Given the description of an element on the screen output the (x, y) to click on. 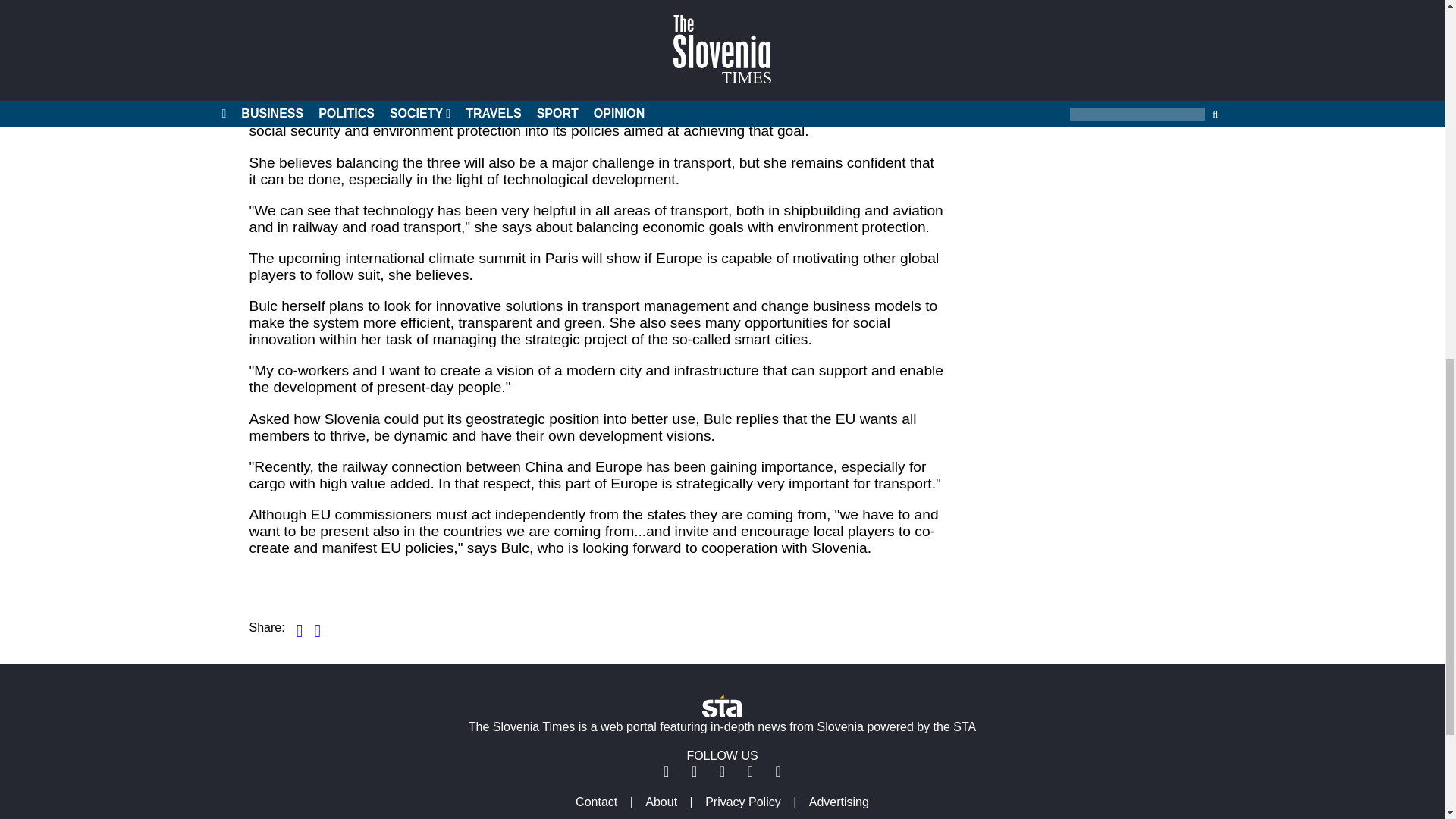
About (660, 801)
Privacy Policy (742, 801)
Contact (596, 801)
Advertising (838, 801)
